Given the description of an element on the screen output the (x, y) to click on. 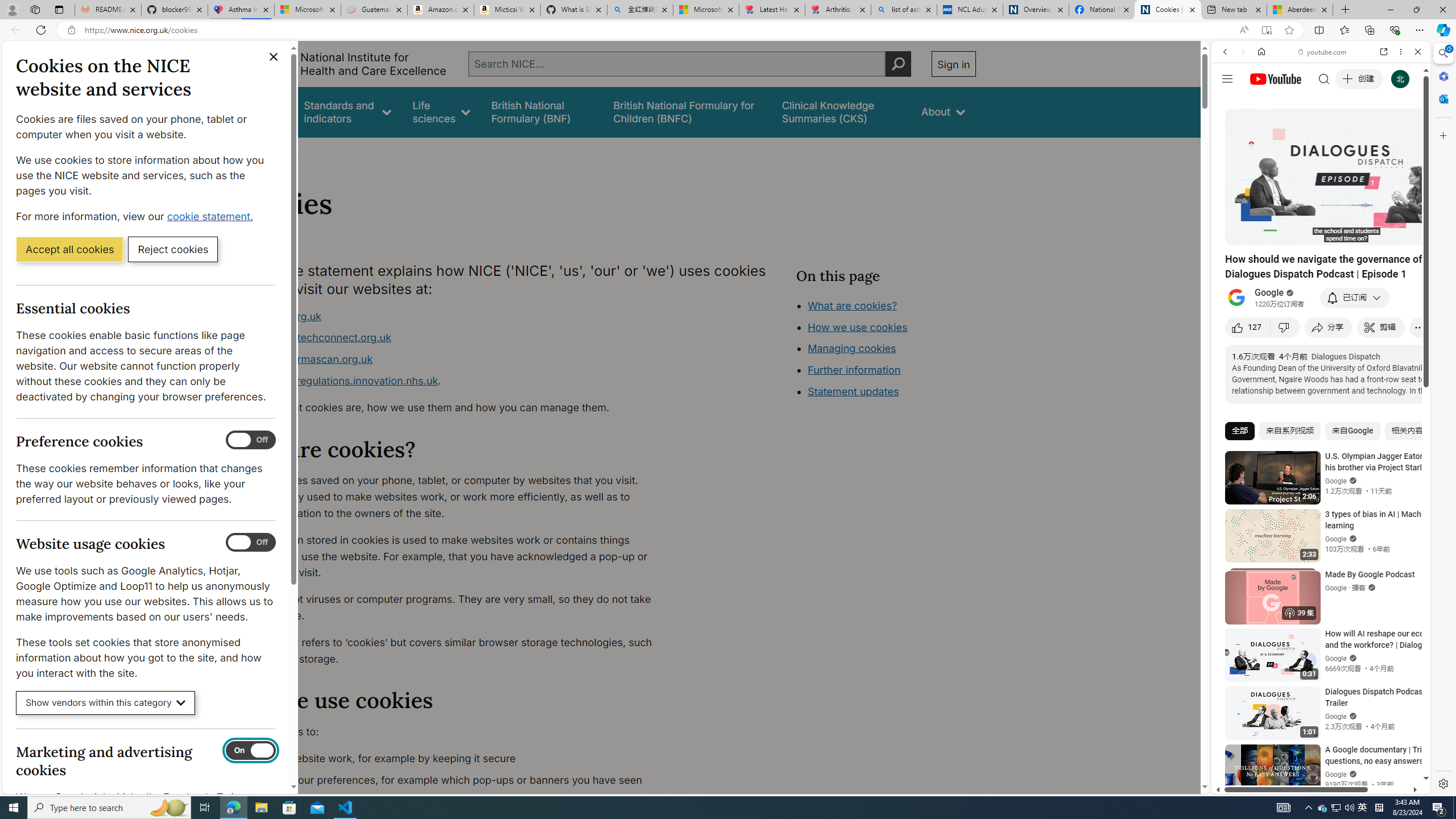
Perform search (898, 63)
Trailer #2 [HD] (1320, 336)
Close cookie banner (273, 56)
SEARCH TOOLS (1350, 130)
How we use cookies (857, 327)
Statement updates (853, 391)
